Given the description of an element on the screen output the (x, y) to click on. 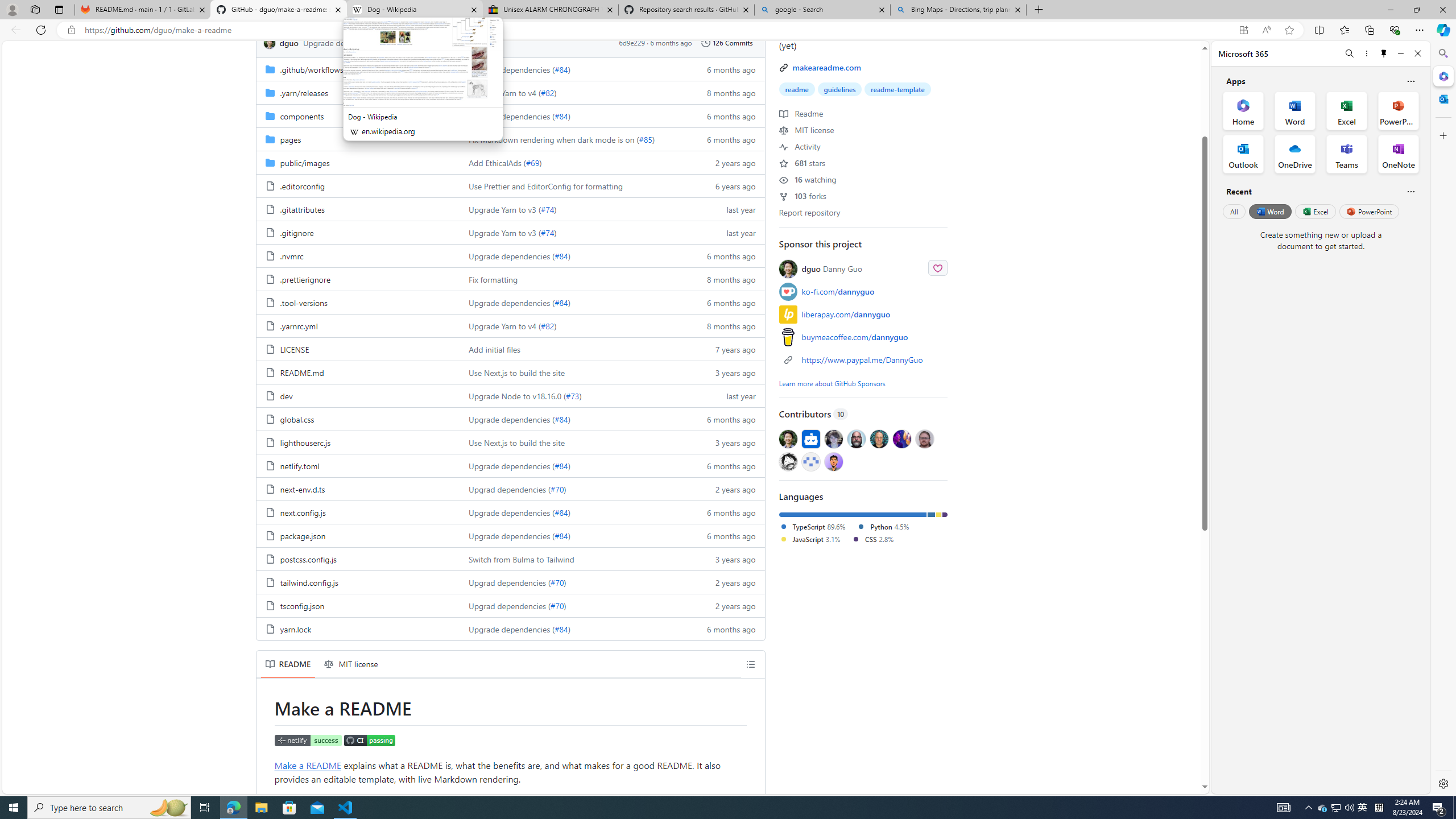
next.config.js, (File) (358, 512)
Use Prettier and EditorConfig for formatting (545, 185)
.yarnrc.yml, (File) (358, 325)
public/images, (Directory) (358, 161)
AutomationID: folder-row-6 (510, 208)
Browser essentials (1394, 29)
lighthouserc.js, (File) (304, 441)
postcss.config.js, (File) (358, 558)
@dependabot[bot] (809, 438)
PowerPoint (1369, 210)
global.css, (File) (358, 418)
@davidak (833, 438)
.nvmrc, (File) (358, 255)
netlify.toml, (File) (299, 465)
